Given the description of an element on the screen output the (x, y) to click on. 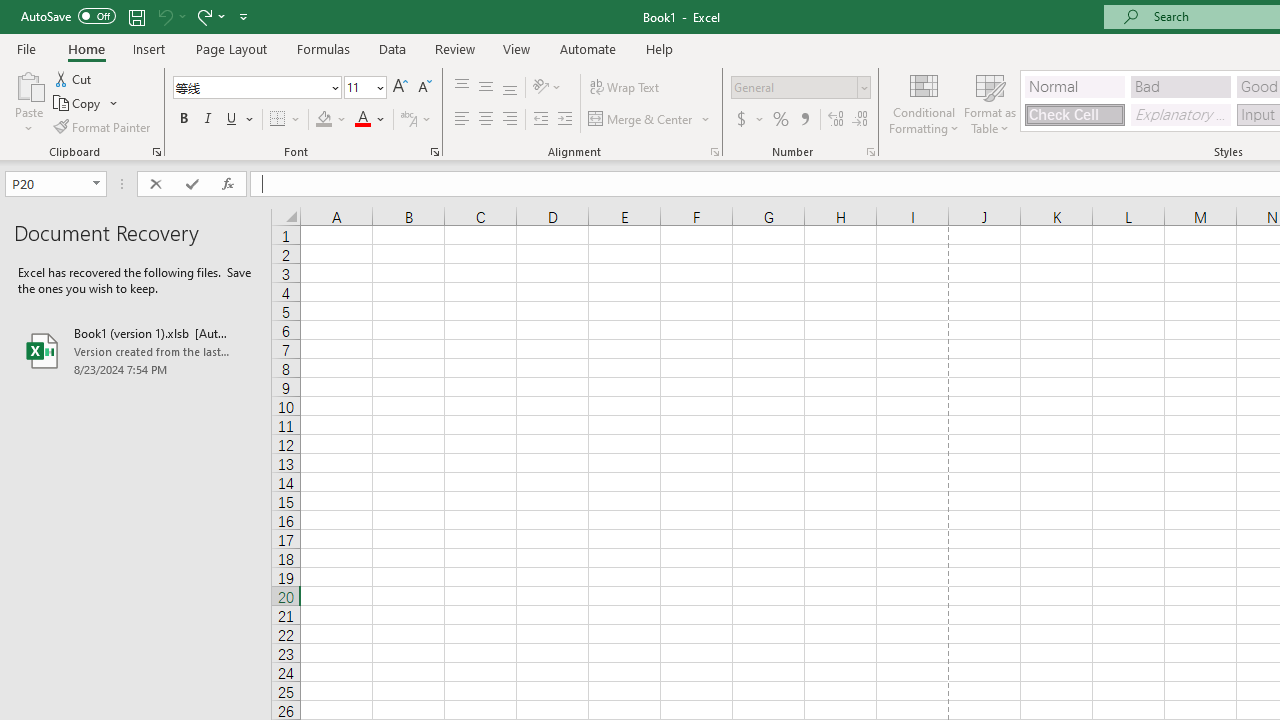
View (517, 48)
More Options (760, 119)
Underline (232, 119)
File Tab (26, 48)
Normal (1074, 86)
Comma Style (804, 119)
Quick Access Toolbar (136, 16)
Format Painter (103, 126)
Cut (73, 78)
Fill Color (331, 119)
Bad (1180, 86)
Fill Color RGB(255, 255, 0) (324, 119)
Borders (285, 119)
